Given the description of an element on the screen output the (x, y) to click on. 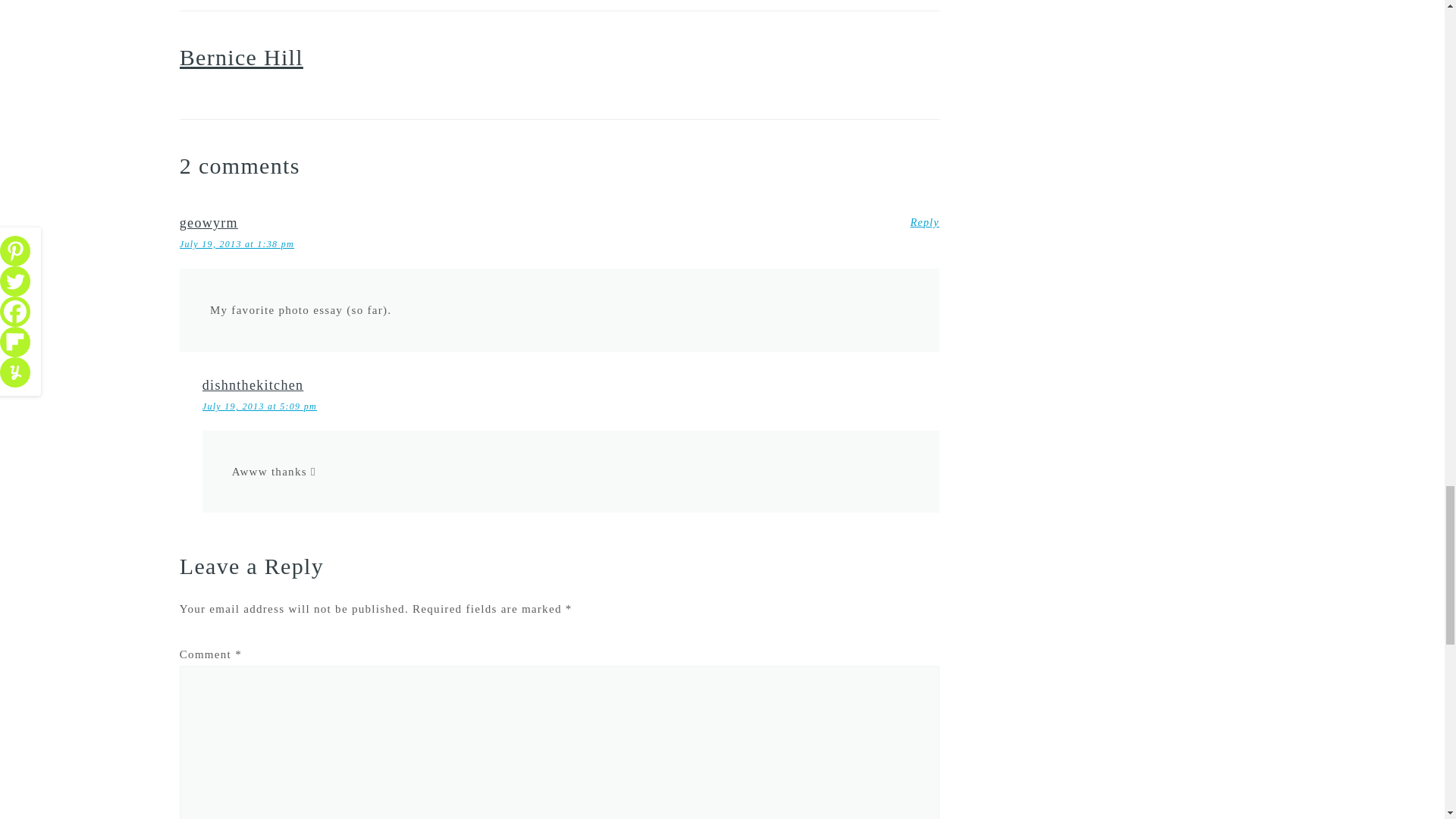
Posts by Bernice Hill (240, 57)
